Given the description of an element on the screen output the (x, y) to click on. 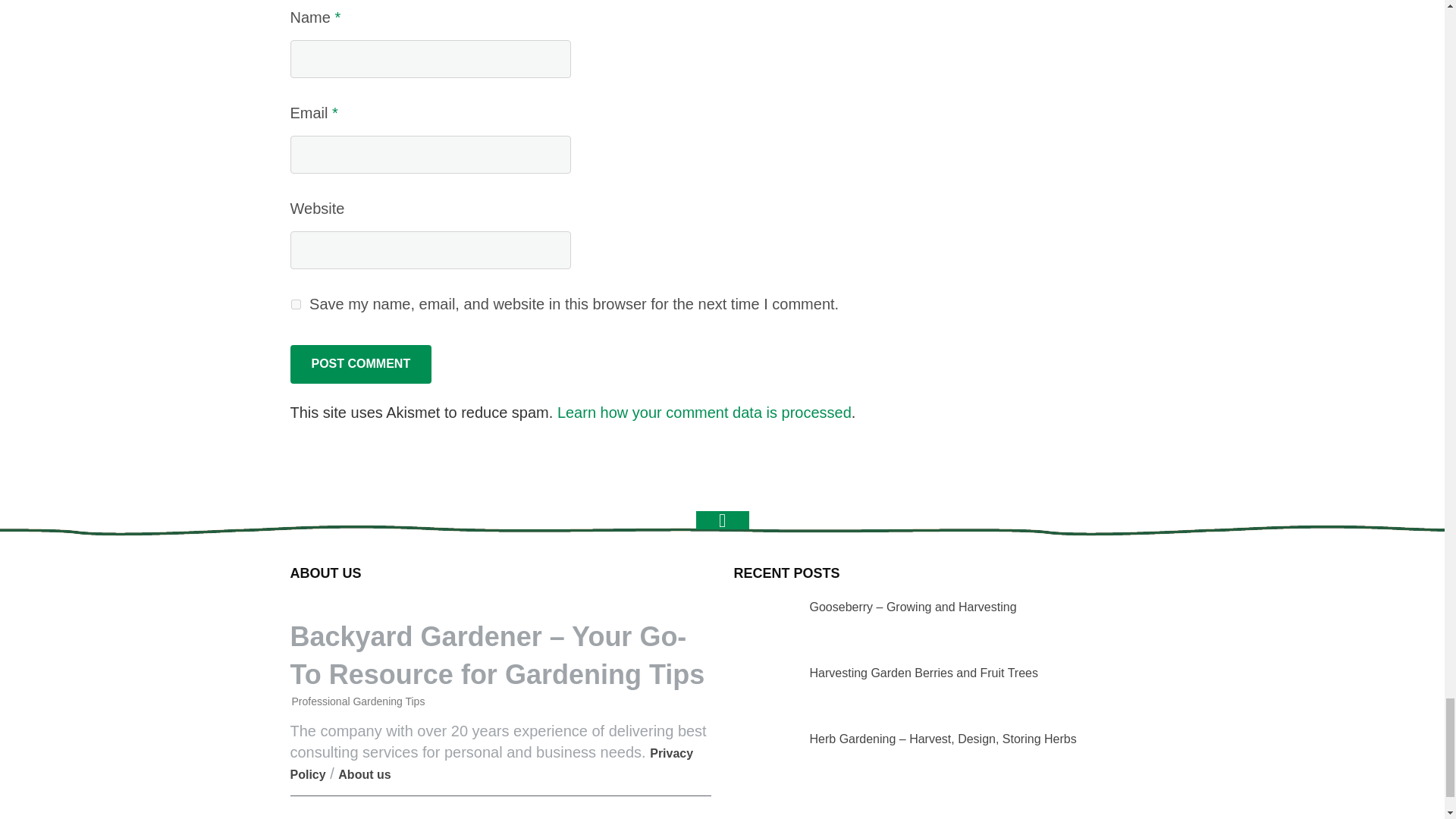
Post Comment (359, 363)
Harvesting Garden Berries and Fruit Trees (761, 687)
yes (296, 304)
